Given the description of an element on the screen output the (x, y) to click on. 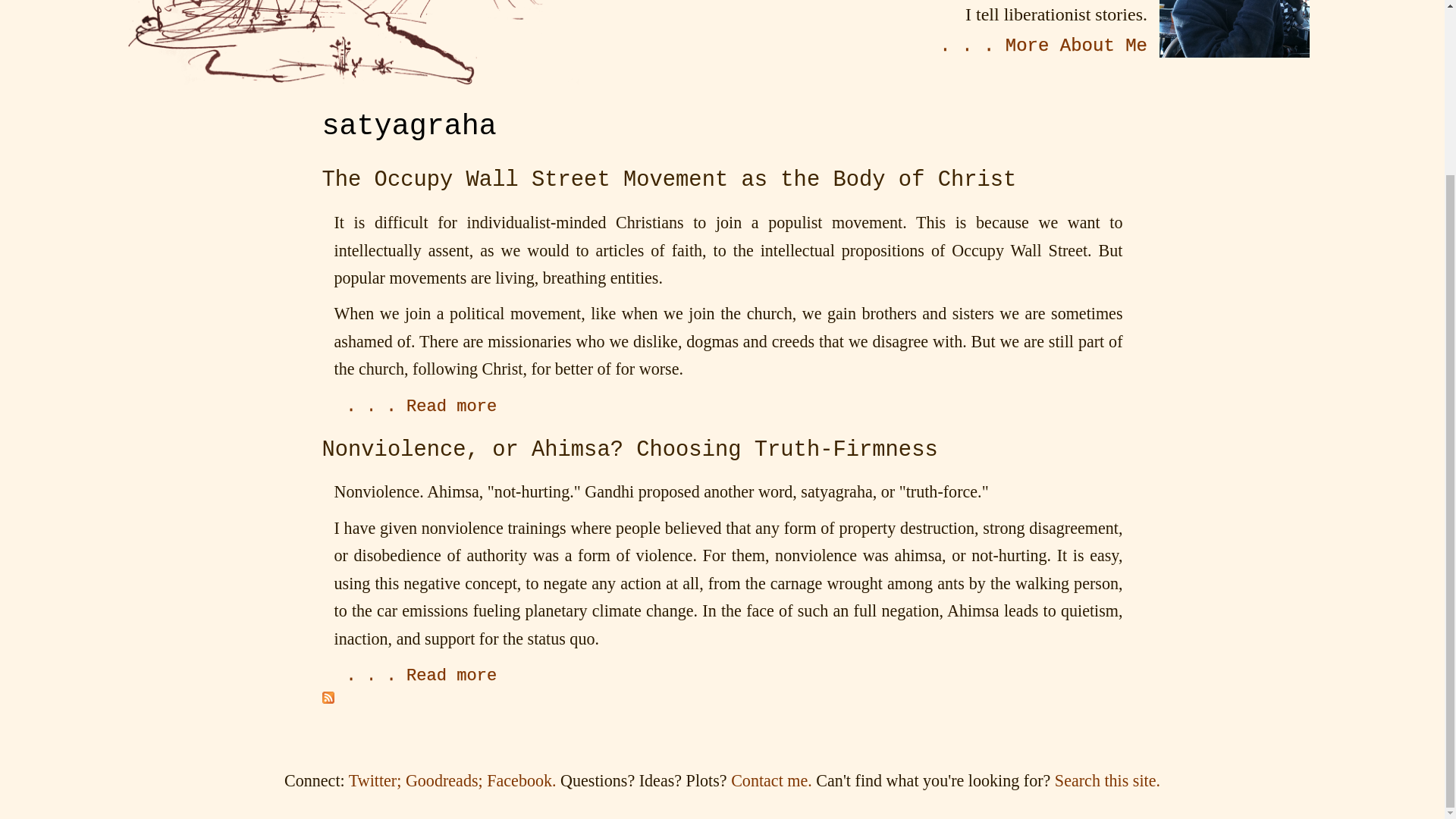
The Occupy Wall Street Movement as the Body of Christ (421, 406)
Subscribe to satyagraha (327, 698)
Twitter; (375, 780)
Nonviolence, or Ahimsa? Choosing Truth-Firmness (421, 675)
Search this site. (1107, 780)
Facebook. (521, 780)
Goodreads; (444, 780)
The Occupy Wall Street Movement as the Body of Christ (668, 179)
. . . More About Me (1043, 46)
